Given the description of an element on the screen output the (x, y) to click on. 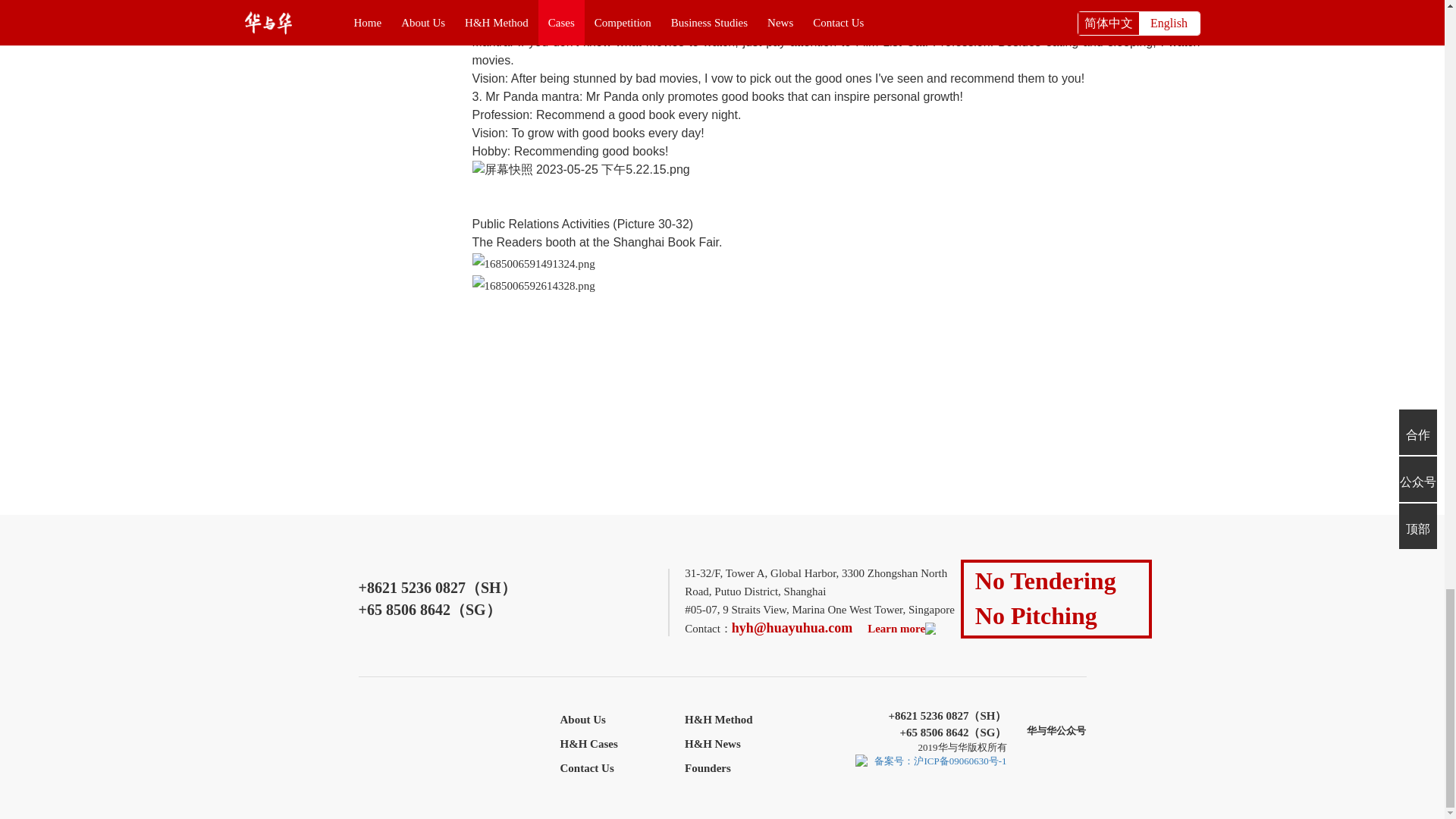
1685006552914646.png (579, 169)
1685006591491324.png (532, 263)
1685006592614328.png (532, 285)
